Given the description of an element on the screen output the (x, y) to click on. 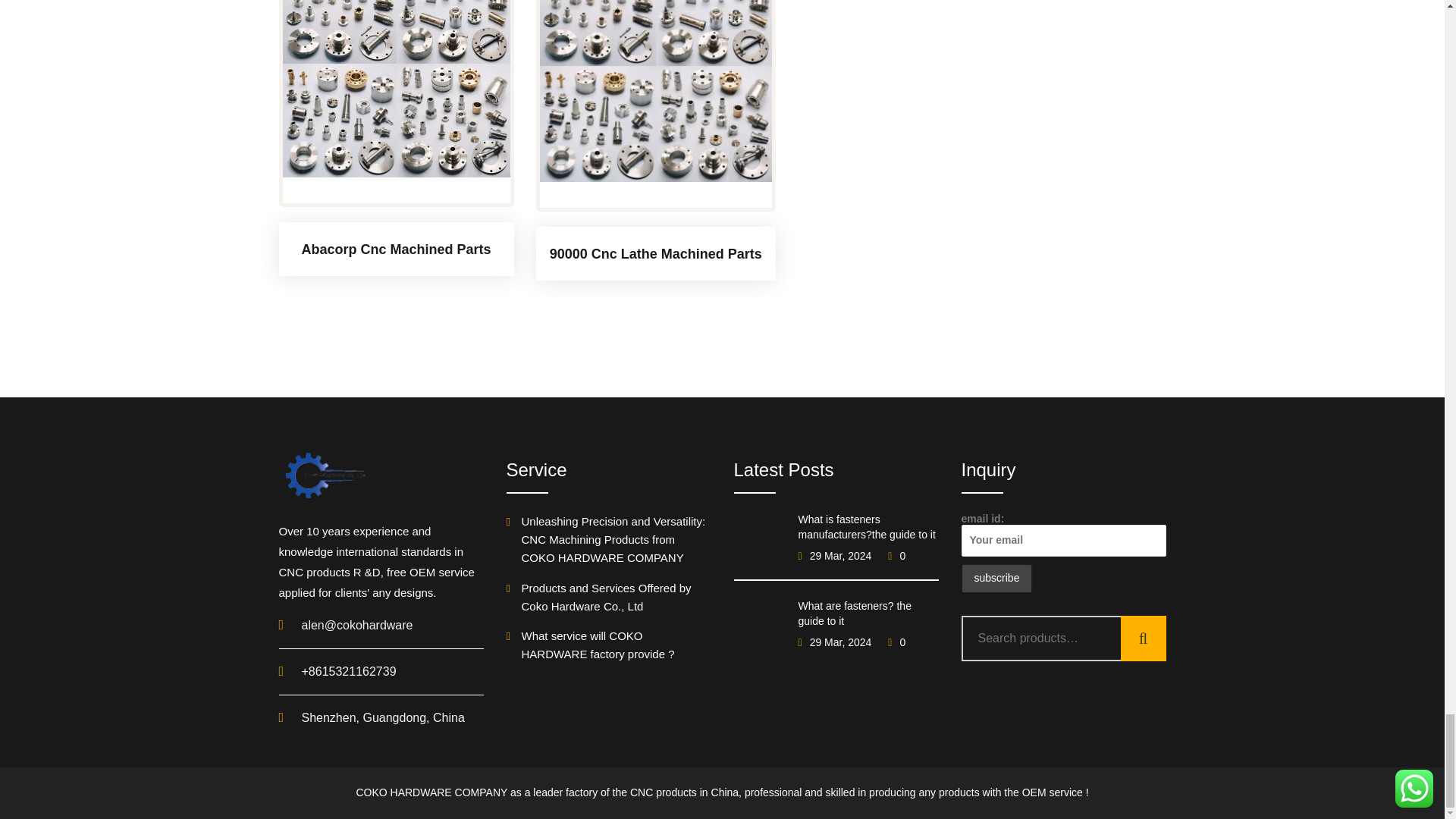
abacorp cnc machined parts (395, 88)
90000 cnc lathe machined parts (655, 90)
subscribe (996, 578)
